Given the description of an element on the screen output the (x, y) to click on. 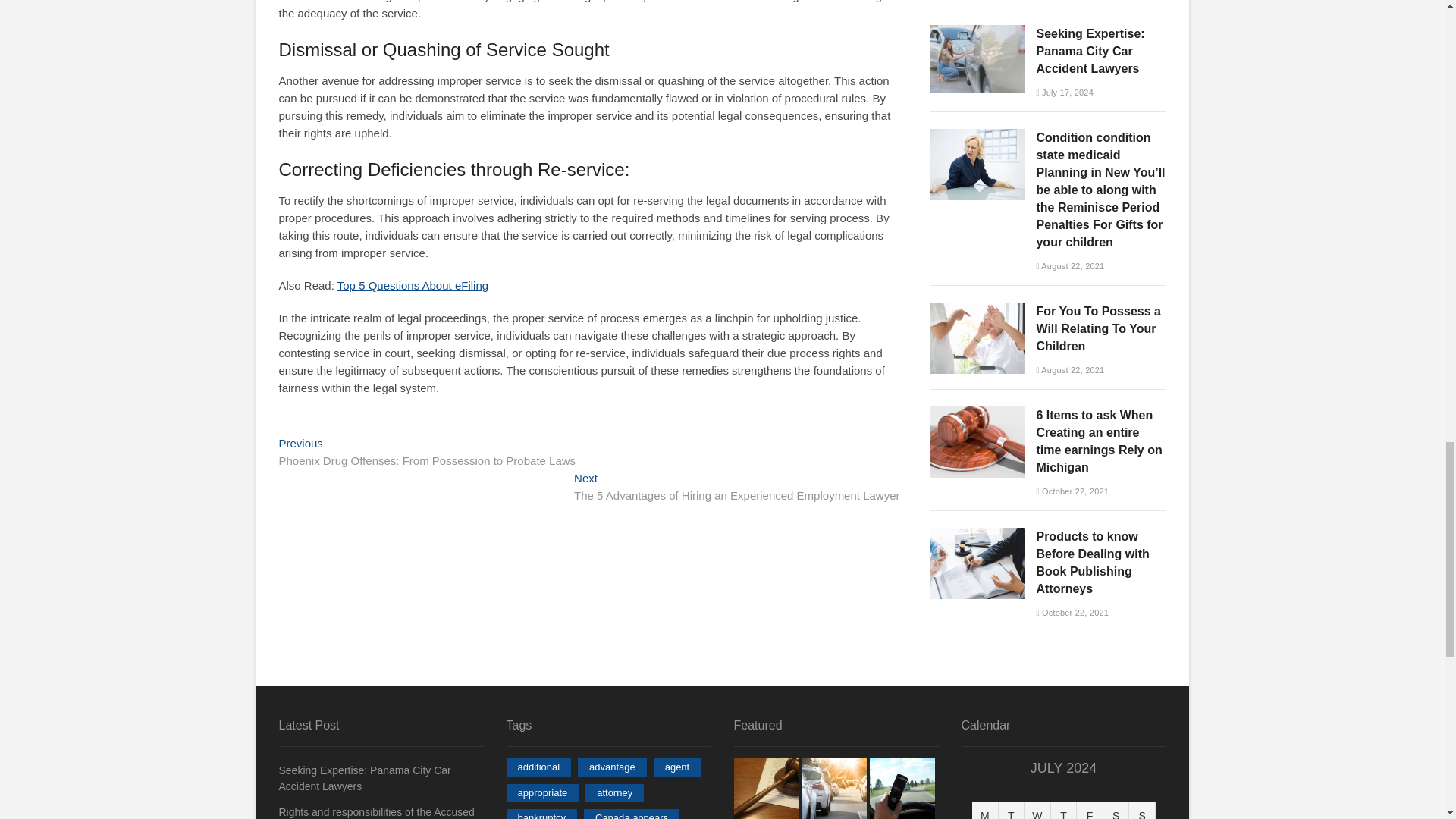
Top 5 Questions About eFiling (412, 285)
Seeking Expertise: Panama City Car Accident Lawyers (977, 32)
For You To Possess a Will Relating To Your Children (977, 309)
August 22, 2021 (1069, 266)
October 22, 2021 (1071, 491)
August 22, 2021 (1069, 369)
July 17, 2024 (1064, 92)
